Given the description of an element on the screen output the (x, y) to click on. 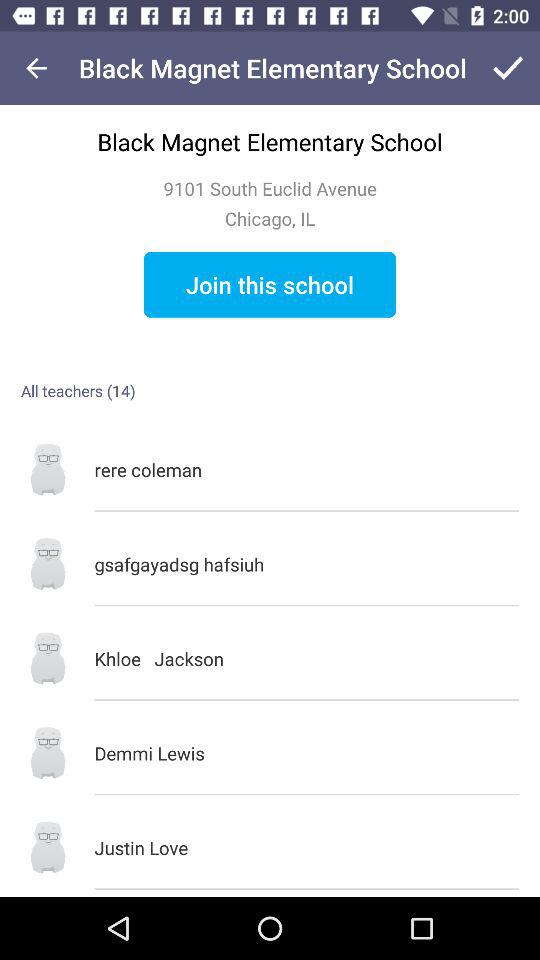
choose item above the black magnet elementary item (36, 68)
